Given the description of an element on the screen output the (x, y) to click on. 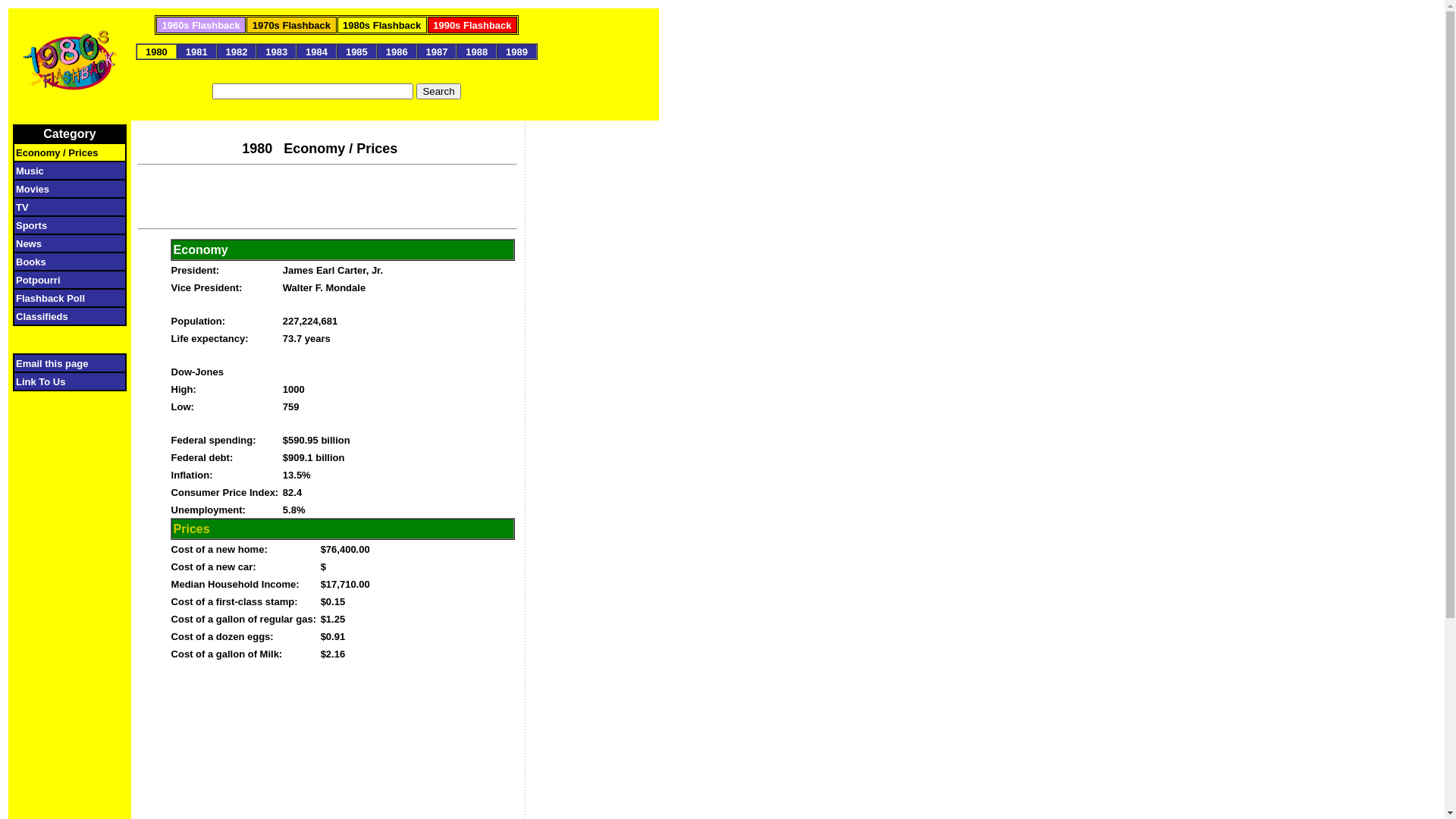
 1987  Element type: text (436, 50)
Search Element type: text (438, 91)
 1981  Element type: text (196, 50)
Classifieds               Element type: text (60, 315)
1960s Flashback Element type: text (200, 24)
Advertisement Element type: hover (327, 194)
Advertisement Element type: hover (591, 392)
Potpourri                  Element type: text (60, 279)
 1982  Element type: text (236, 50)
Flashback Poll         Element type: text (60, 297)
Music                          Element type: text (63, 169)
Books                          Element type: text (64, 260)
TV                                Element type: text (64, 206)
1990s Flashback Element type: text (472, 24)
 1989  Element type: text (516, 50)
Movies                        Element type: text (63, 188)
Link To Us                 Element type: text (62, 380)
 1985  Element type: text (356, 50)
 1988  Element type: text (476, 50)
Sports                        Element type: text (62, 224)
 1984  Element type: text (316, 50)
 1983  Element type: text (276, 50)
Email this page       Element type: text (59, 362)
1970s Flashback Element type: text (291, 24)
 1986  Element type: text (396, 50)
News                            Element type: text (65, 242)
